Given the description of an element on the screen output the (x, y) to click on. 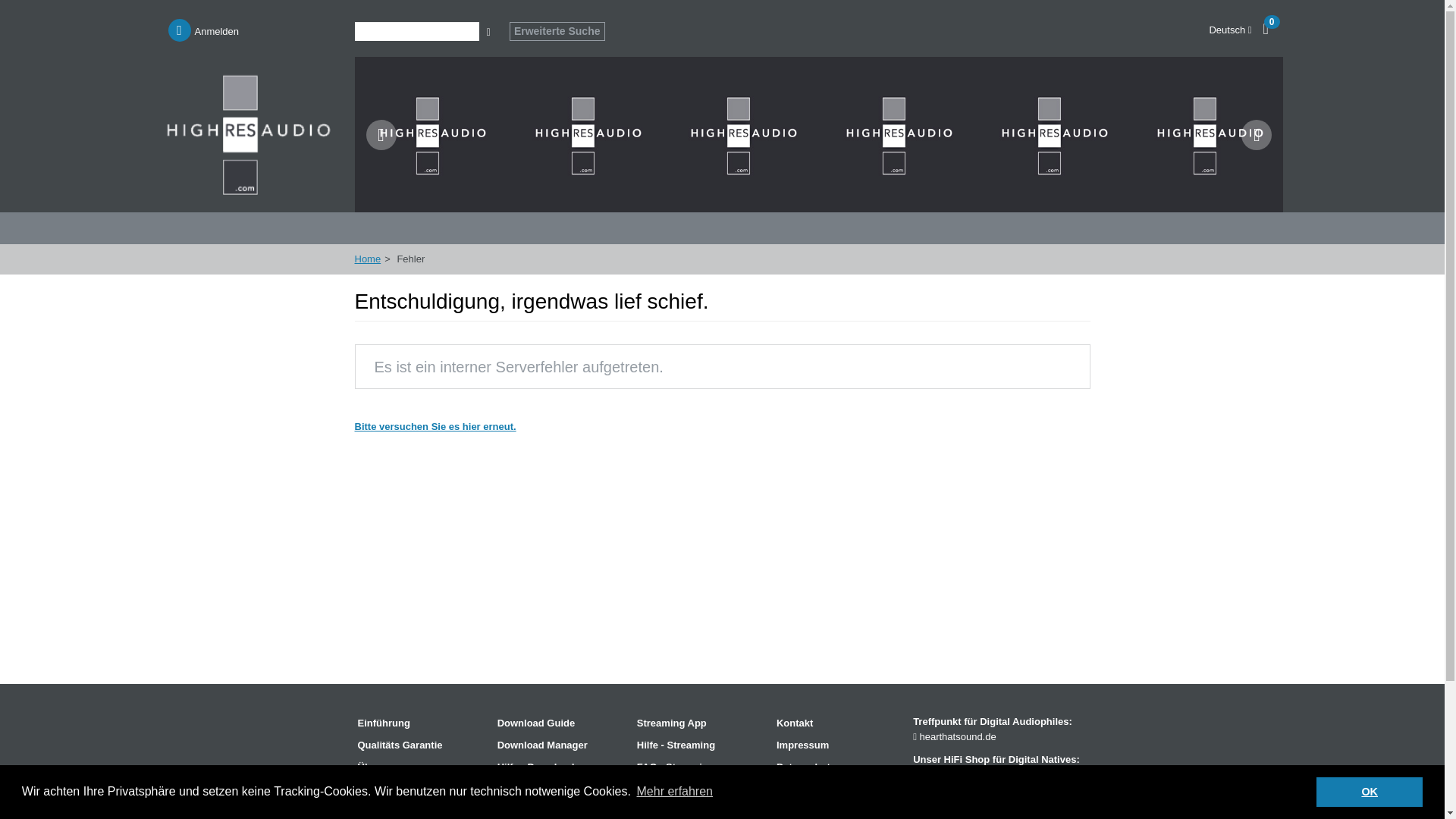
Weiter (1256, 134)
Anmelden (204, 30)
Bitte versuchen Sie es hier erneut. (435, 426)
Erweiterte Suche (557, 31)
Home (368, 258)
Besuchen Sie HRA auf Facebook (927, 816)
Deutsch (1229, 30)
FAQ - Download (560, 789)
Download Guide (560, 723)
Besuchen Sie HRA auf Twitter (957, 816)
